Given the description of an element on the screen output the (x, y) to click on. 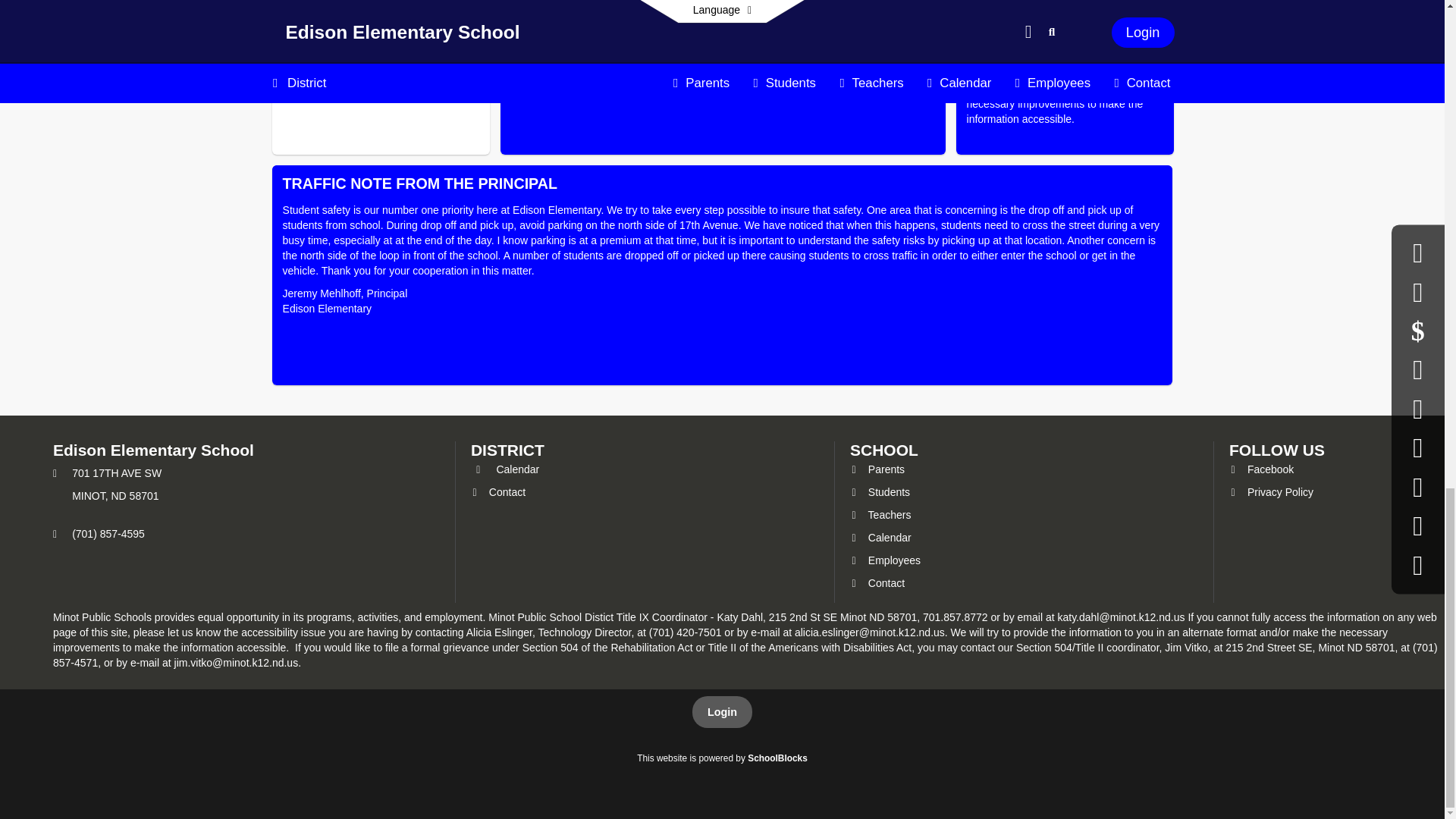
Employees (885, 560)
Students (880, 491)
Contact (497, 491)
Teachers (880, 514)
Facebook (1261, 469)
Calendar (504, 469)
Picture of Edison Elementary School (722, 77)
Privacy Policy (1270, 491)
Contact (877, 582)
Parents (877, 469)
Calendar (880, 537)
